Given the description of an element on the screen output the (x, y) to click on. 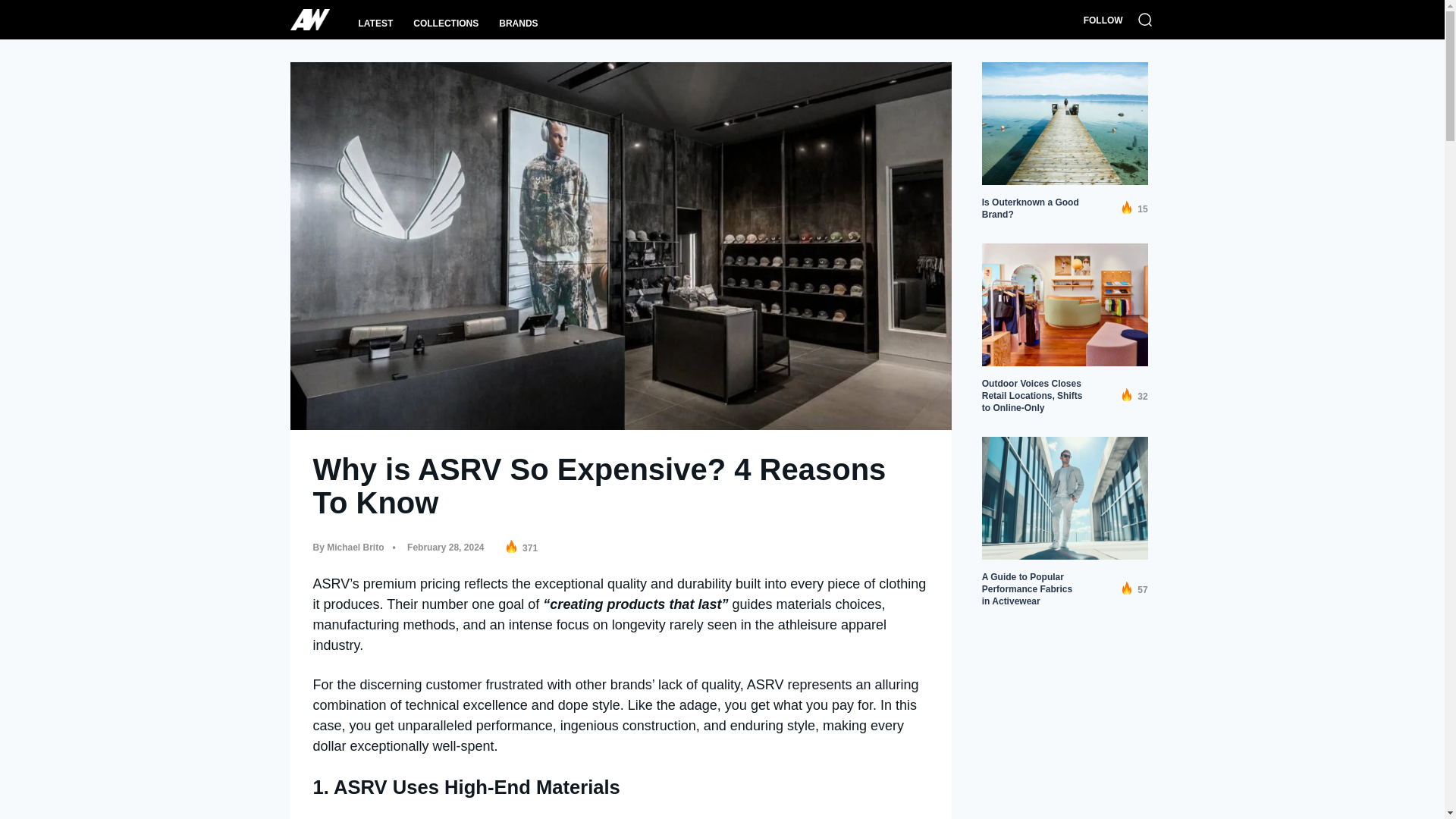
COLLECTIONS (446, 23)
LATEST (375, 23)
BRANDS (518, 23)
